Given the description of an element on the screen output the (x, y) to click on. 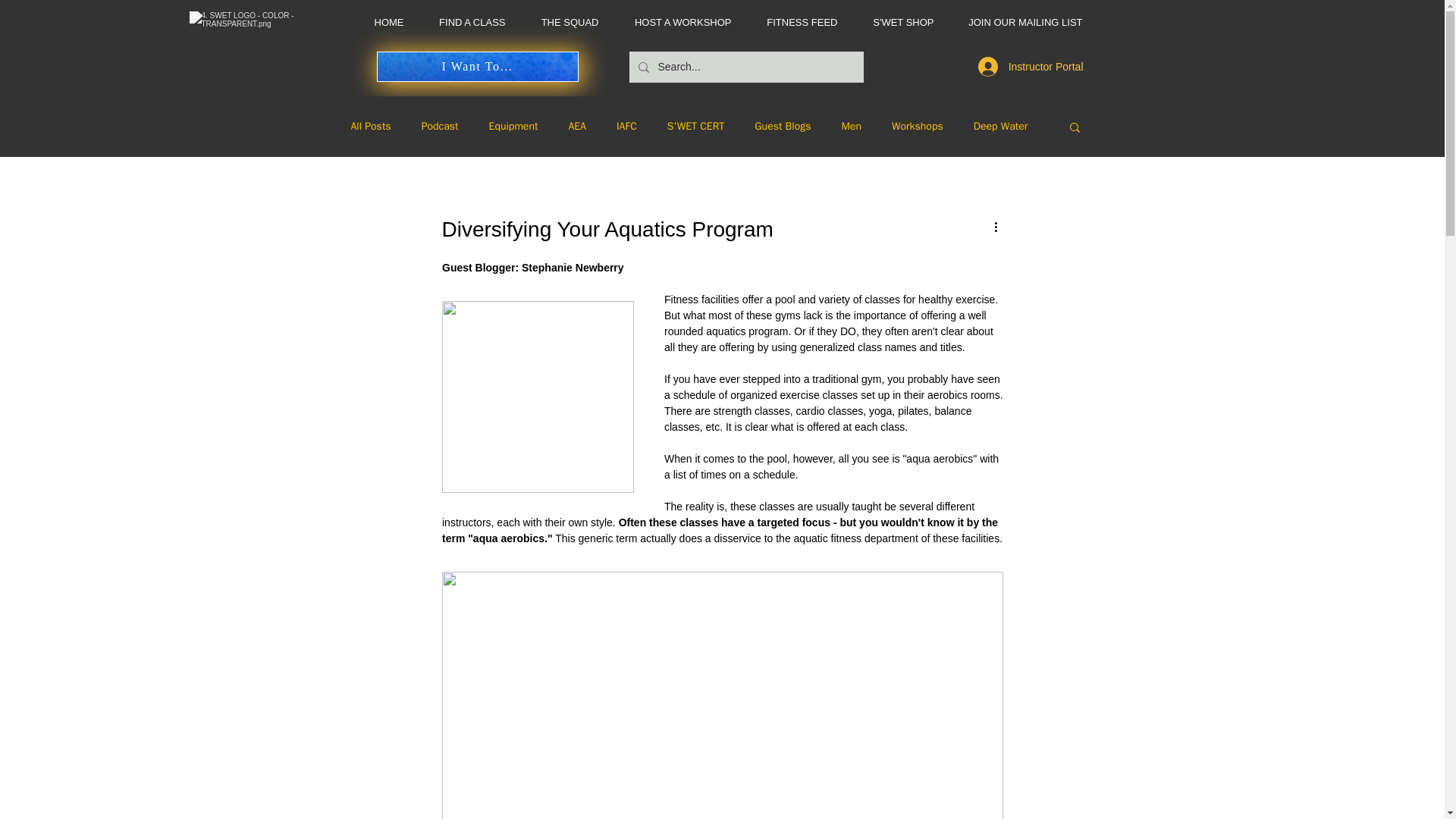
Guest Blogs (782, 126)
HOST A WORKSHOP (676, 22)
S'WET SHOP (896, 22)
JOIN OUR MAILING LIST (1020, 22)
Instructor Portal (1031, 66)
FITNESS FEED (795, 22)
Podcast (440, 126)
S'WET CERT (695, 126)
Workshops (917, 126)
FIND A CLASS (465, 22)
AEA (576, 126)
HOME (382, 22)
THE SQUAD (563, 22)
All Posts (370, 126)
Deep Water (1000, 126)
